Given the description of an element on the screen output the (x, y) to click on. 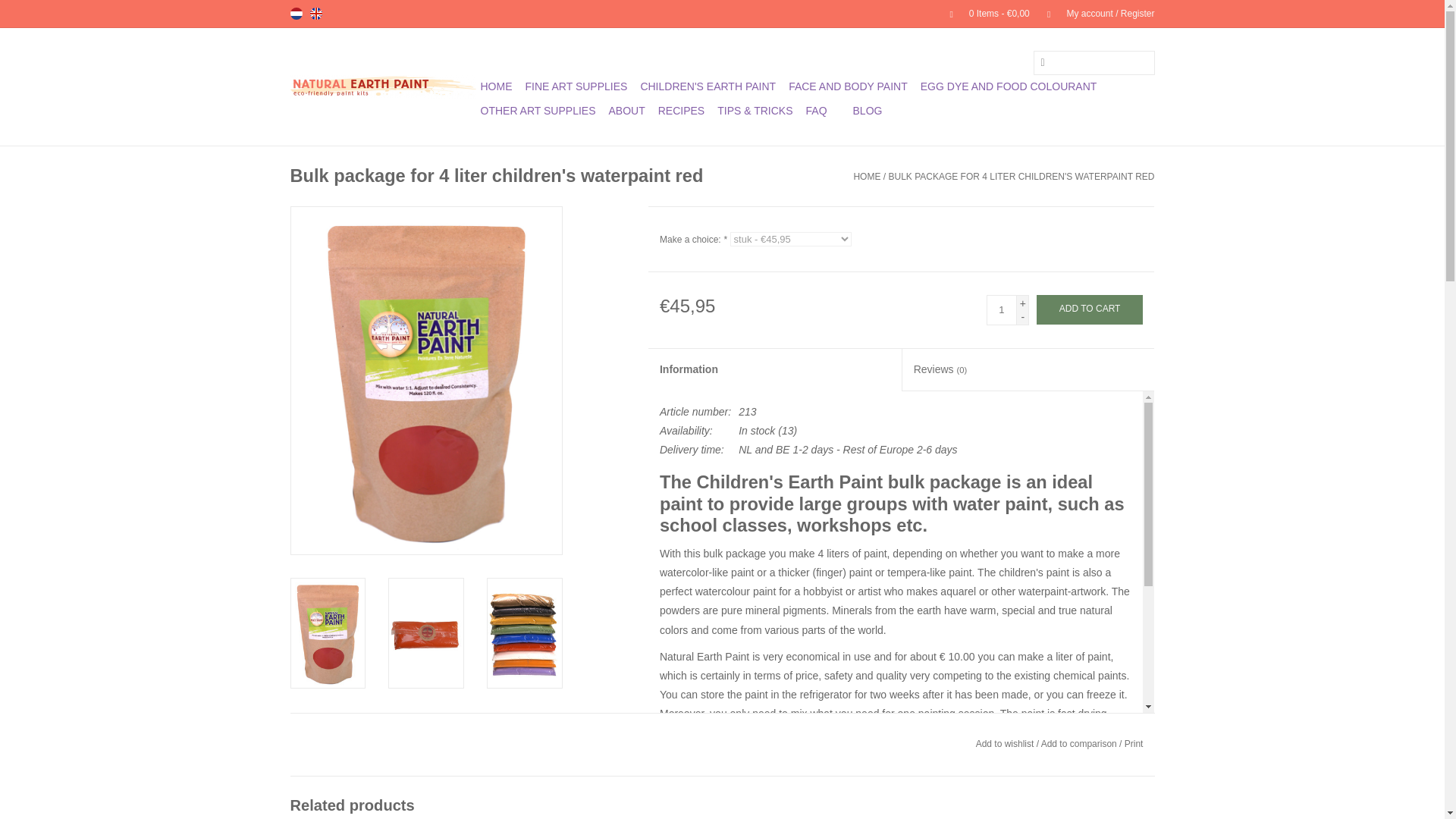
EGG DYE AND FOOD COLOURANT (1008, 86)
HOME (496, 86)
en (314, 13)
Fine Art Supplies (575, 86)
FACE AND BODY PAINT (848, 86)
Children's Earth Paint (707, 86)
Nederlands (295, 13)
English (314, 13)
ABOUT (626, 110)
Other Art supplies (537, 110)
nl (295, 13)
1 (1001, 309)
RECIPES (681, 110)
Cart (983, 13)
